Given the description of an element on the screen output the (x, y) to click on. 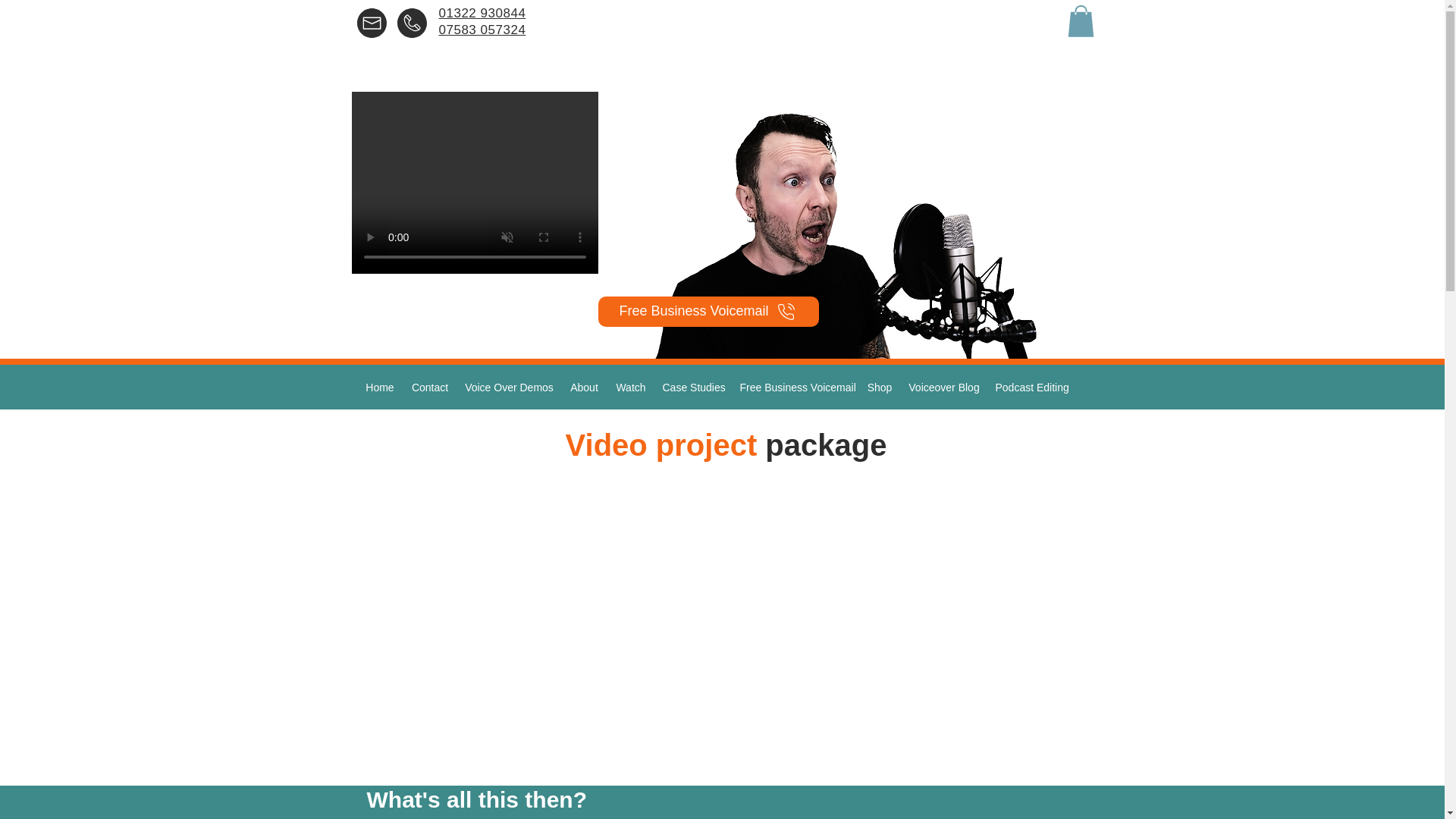
Voice Over Demos (508, 387)
Case Studies (693, 387)
Podcast Editing (1030, 387)
07583 057324 (481, 38)
Voiceover Blog (944, 387)
Watch (630, 387)
Martin Whiskin voiceover artist (846, 228)
01322 930844 (481, 12)
Shop (879, 387)
Home (379, 387)
